Given the description of an element on the screen output the (x, y) to click on. 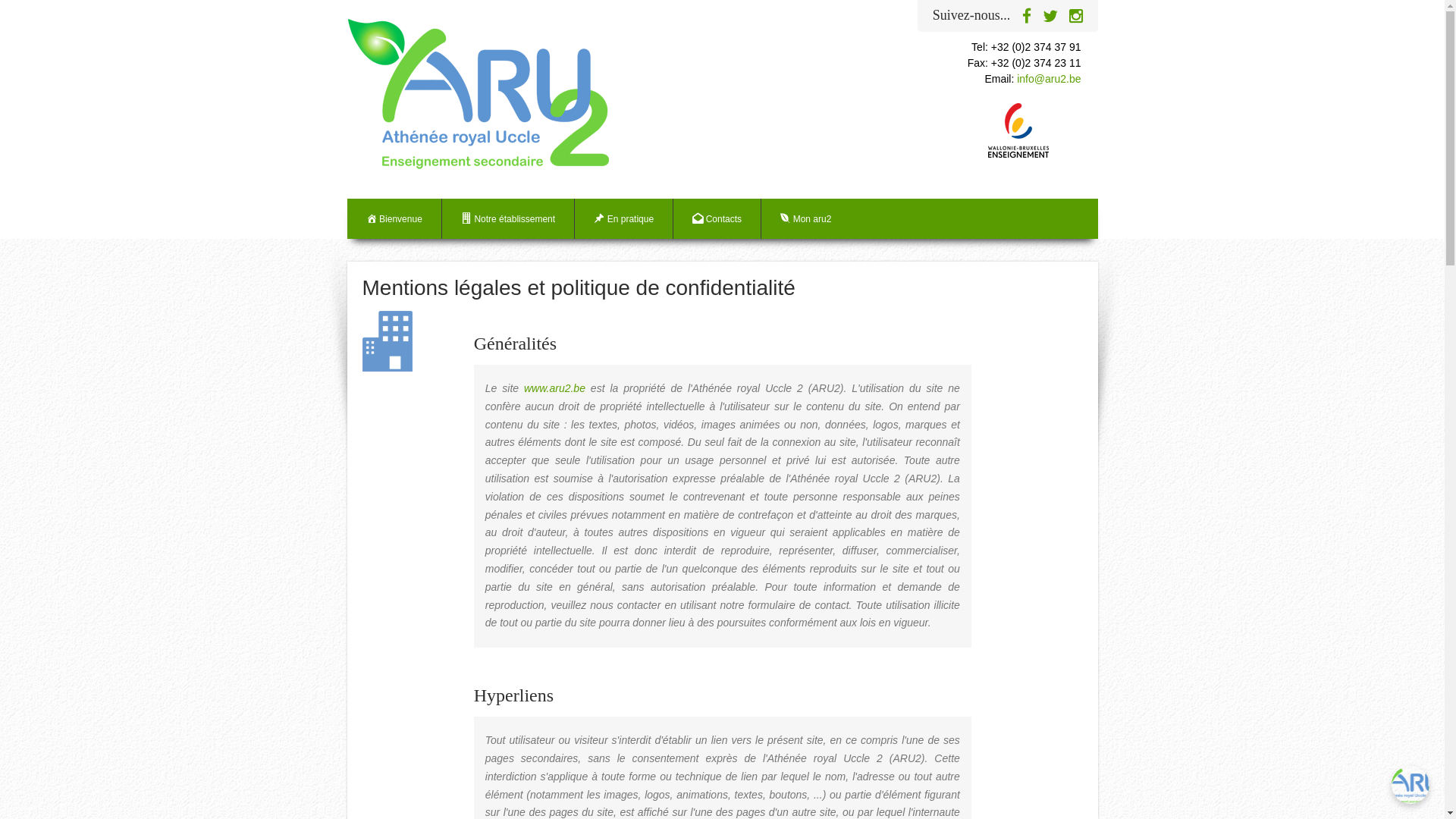
Mon aru2 Element type: text (805, 218)
En pratique Element type: text (623, 218)
Bienvenue Element type: text (394, 218)
Contacts Element type: text (717, 218)
info@aru2.be Element type: text (1048, 78)
www.aru2.be Element type: text (554, 388)
